Given the description of an element on the screen output the (x, y) to click on. 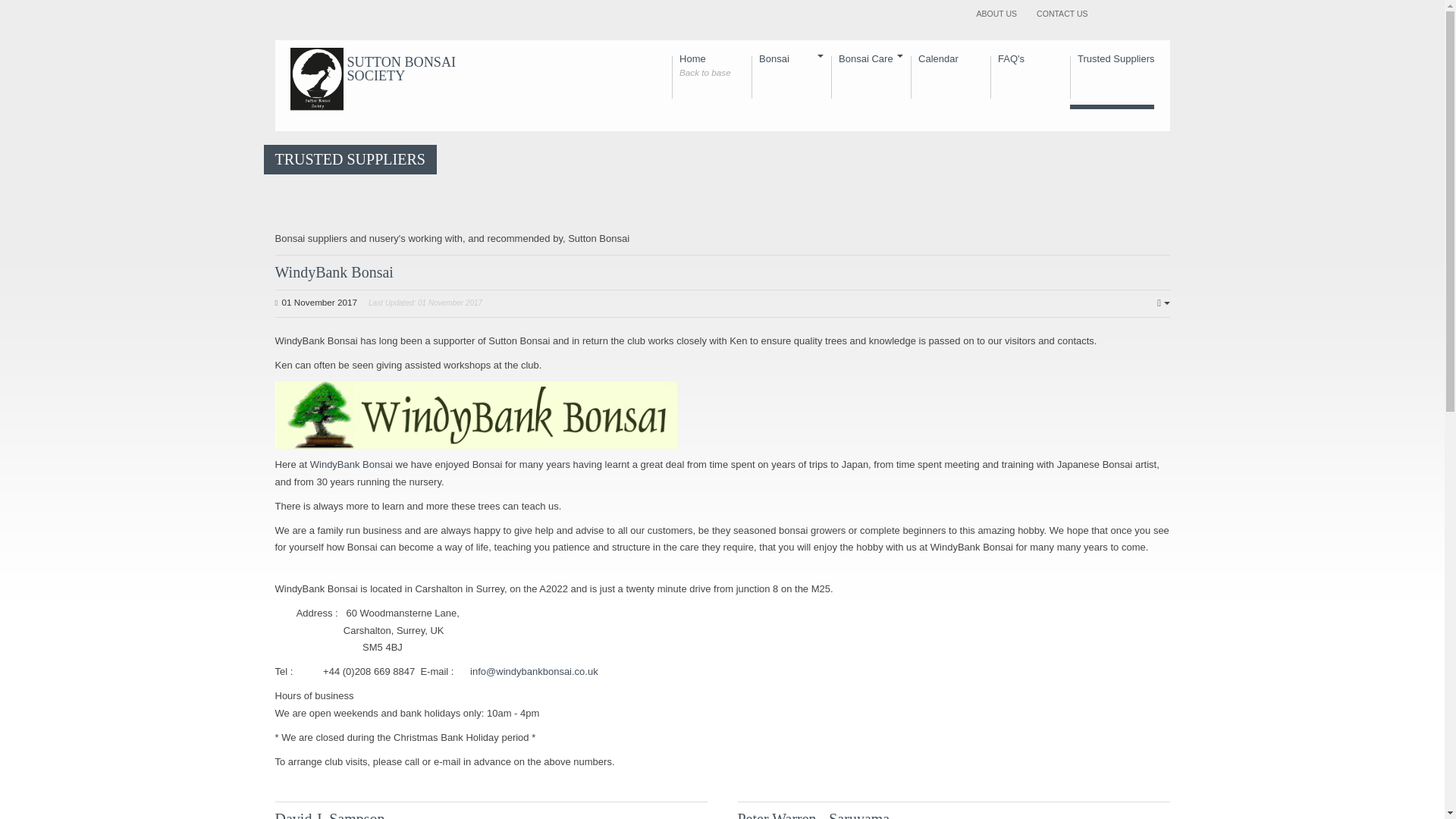
CONTACT US (1061, 13)
ABOUT US (997, 13)
WindyBank Bonsai (1112, 79)
WindyBank Bonsai (351, 464)
Peter Warren - Saruyama (334, 271)
WindyBank Bonsai (812, 814)
David J. Sampson (334, 271)
David J. Sampson (711, 79)
